Given the description of an element on the screen output the (x, y) to click on. 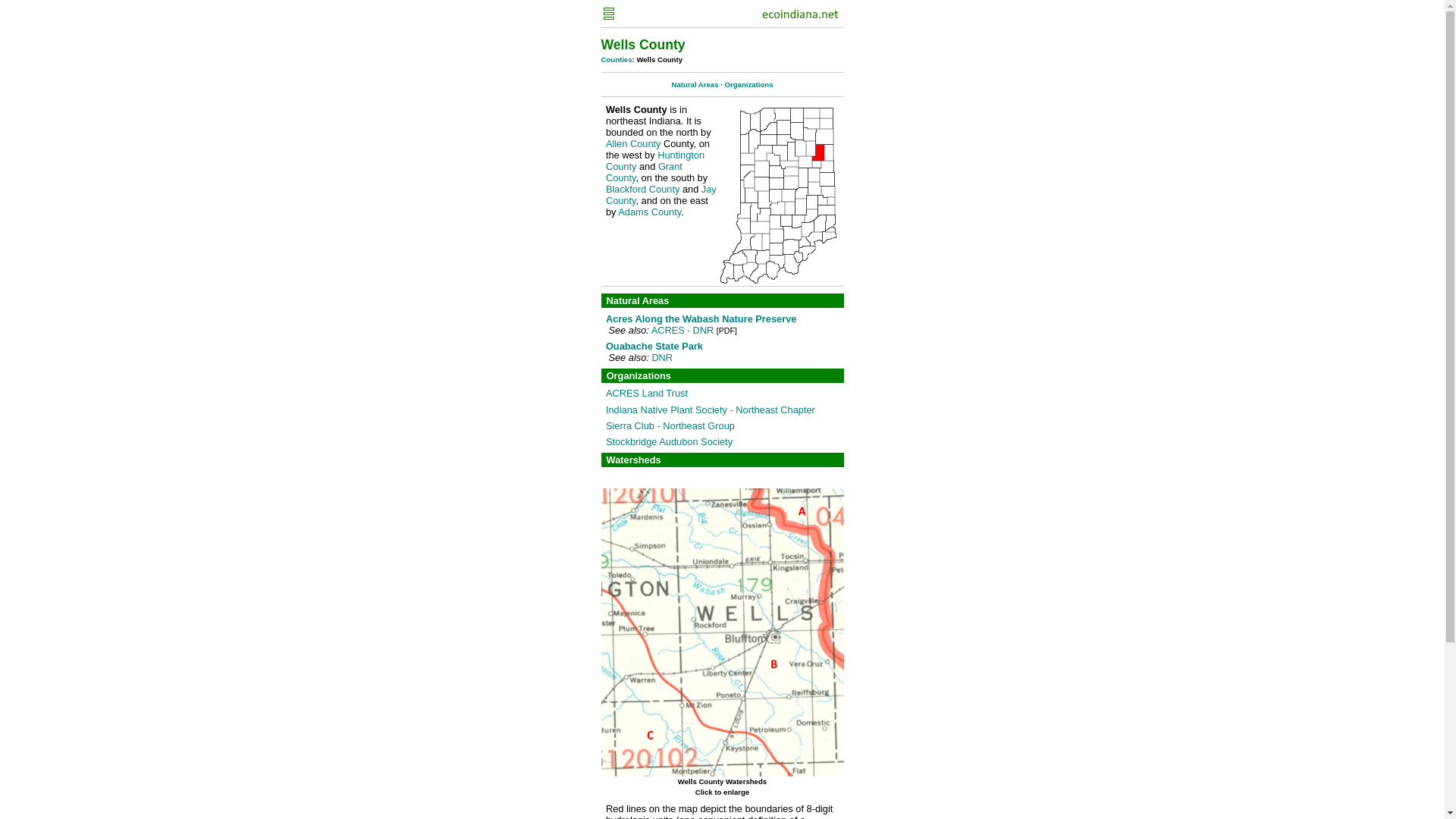
Acres Along the Wabash Nature Preserve (700, 318)
Stockbridge Audubon Society (668, 441)
Huntington County (654, 160)
Allen County (633, 143)
Ouabache State Park (654, 346)
Jay County (660, 194)
Organizations (749, 84)
Grant County (643, 171)
Adams County (649, 211)
Blackford County (642, 188)
DNR (703, 329)
ACRES Land Trust (646, 392)
Natural Areas (695, 84)
ACRES (667, 329)
Sierra Club - Northeast Group (670, 425)
